Given the description of an element on the screen output the (x, y) to click on. 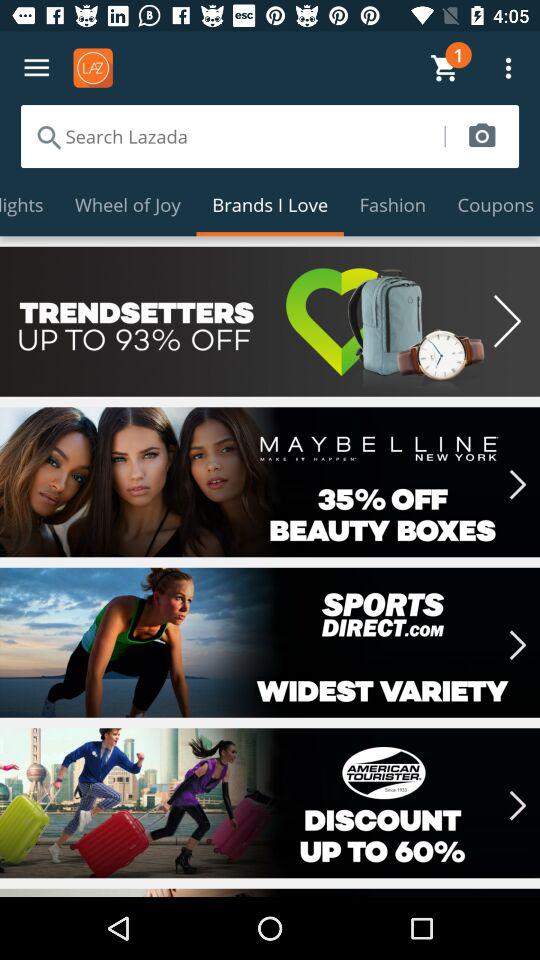
searchbox to search the app (232, 136)
